Given the description of an element on the screen output the (x, y) to click on. 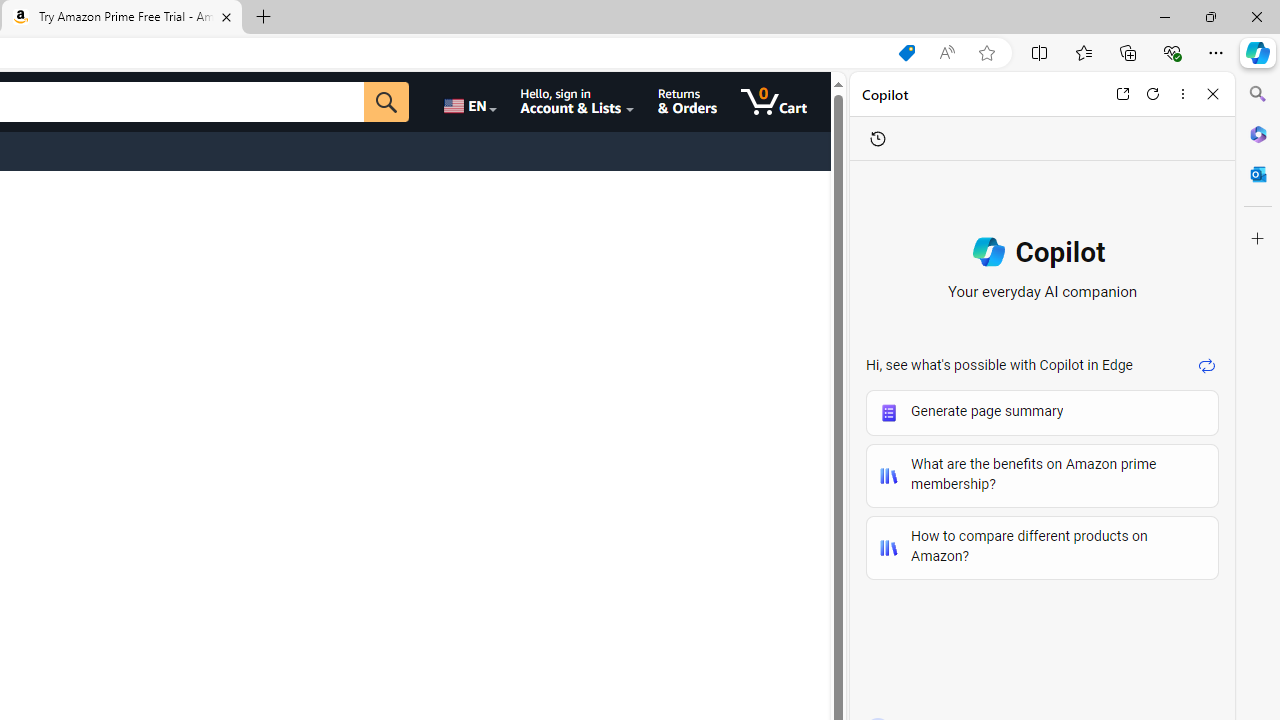
Go (386, 101)
Hello, sign in Account & Lists (576, 101)
Choose a language for shopping. (468, 101)
